Given the description of an element on the screen output the (x, y) to click on. 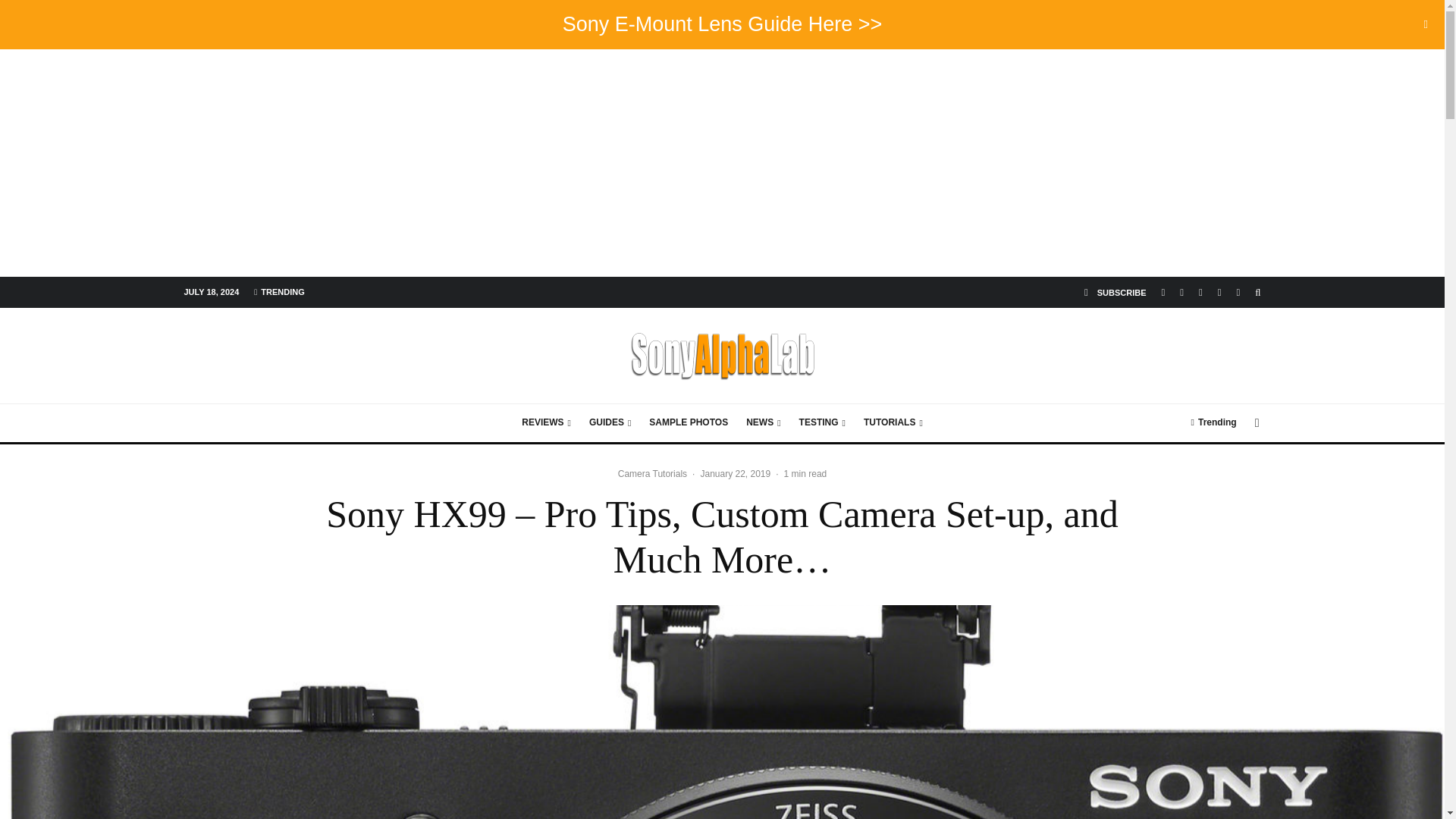
GUIDES (609, 423)
SUBSCRIBE (1115, 292)
REVIEWS (545, 423)
TRENDING (278, 291)
